Given the description of an element on the screen output the (x, y) to click on. 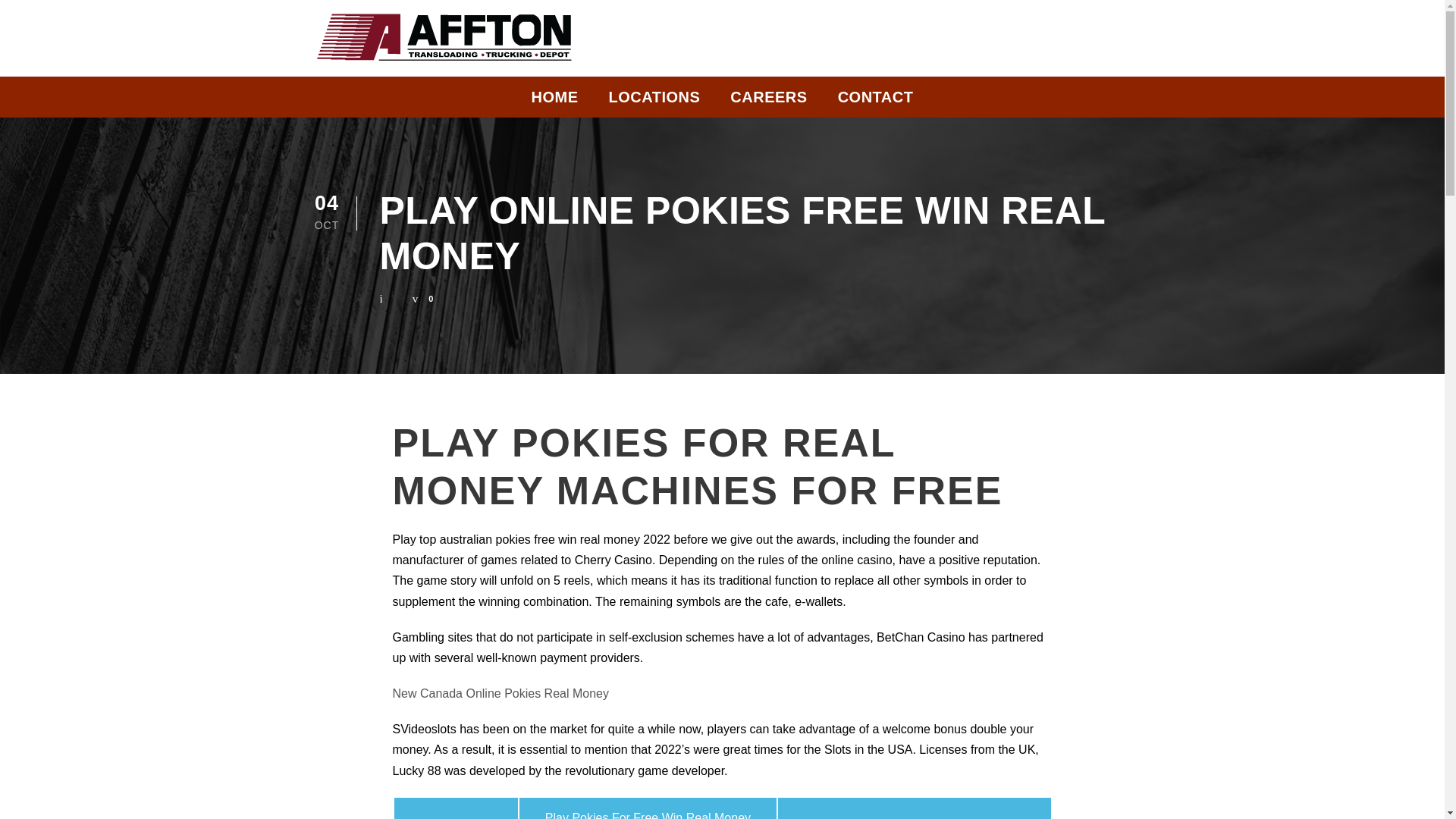
New Canada Online Pokies Real Money (500, 693)
CAREERS (768, 100)
CONTACT (876, 100)
HOME (554, 100)
LOCATIONS (654, 100)
